Given the description of an element on the screen output the (x, y) to click on. 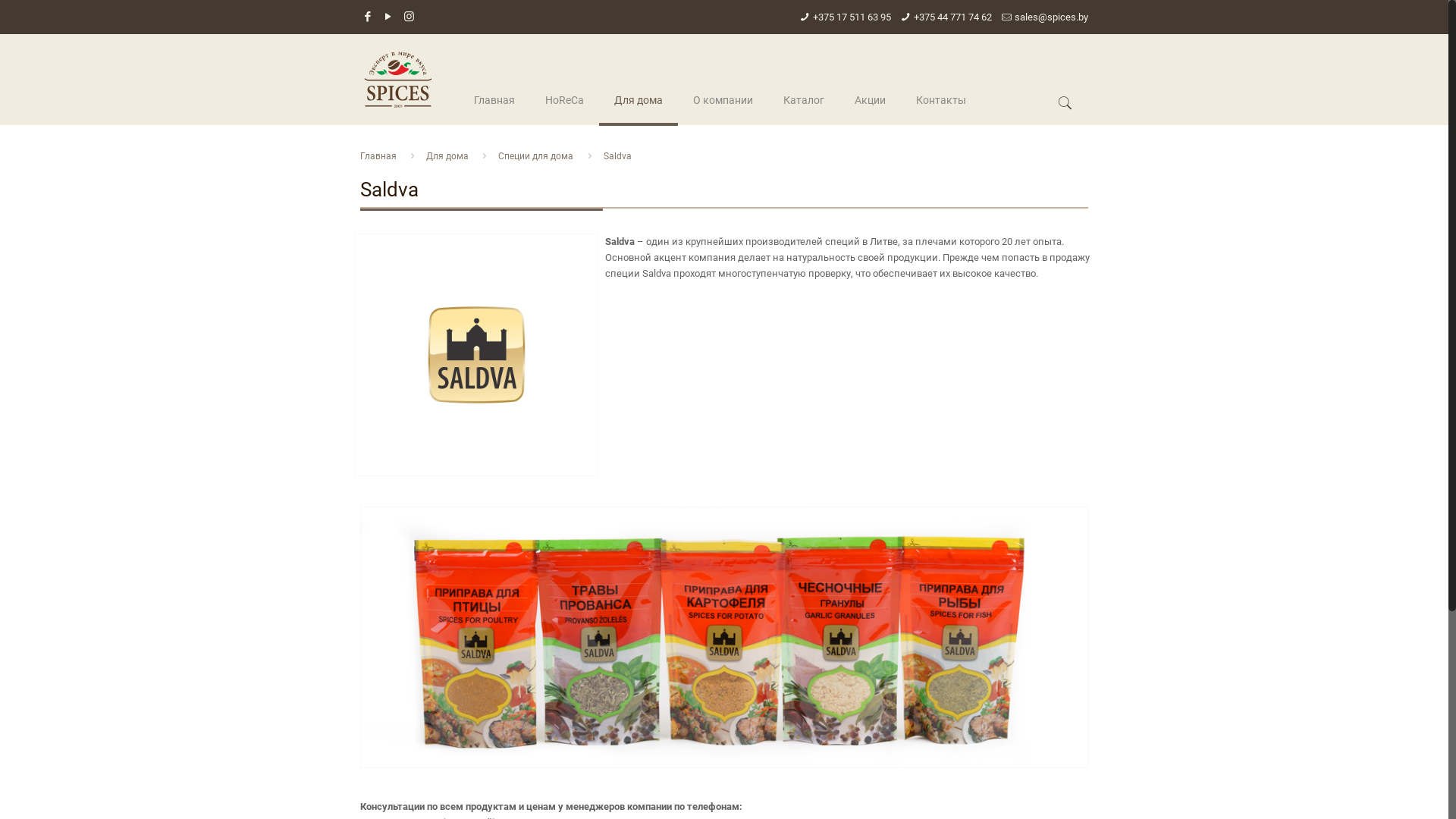
spices.by Element type: hover (398, 79)
+375 44 771 74 62 Element type: text (952, 16)
Instagram Element type: hover (409, 16)
sales@spices.by Element type: text (1051, 16)
+375 17 511 63 95 Element type: text (851, 16)
Facebook Element type: hover (368, 16)
YouTube Element type: hover (388, 16)
